Given the description of an element on the screen output the (x, y) to click on. 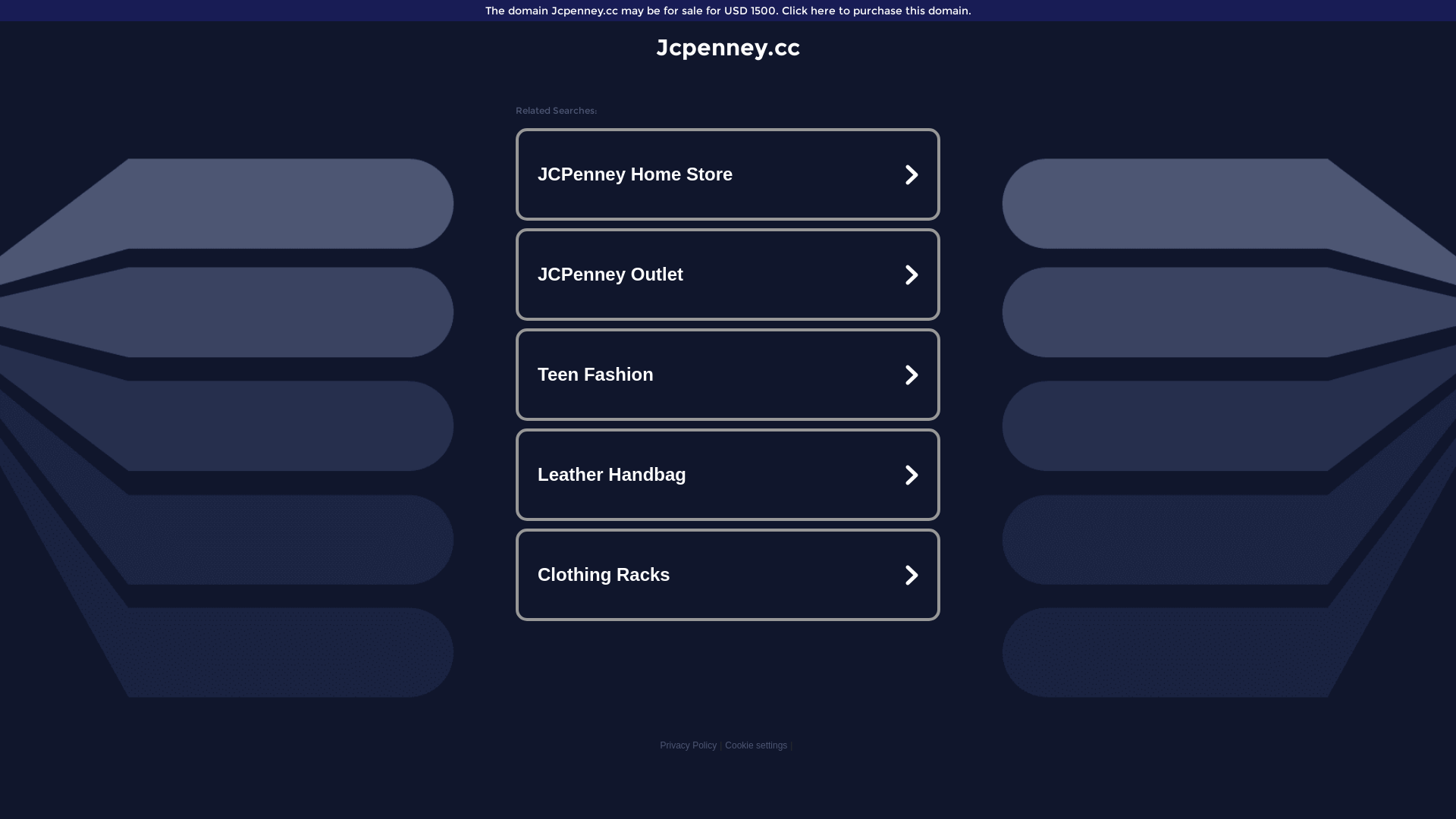
JCPenney Outlet Element type: text (727, 274)
Cookie settings Element type: text (755, 745)
Privacy Policy Element type: text (687, 745)
Jcpenney.cc Element type: text (727, 47)
Clothing Racks Element type: text (727, 574)
Leather Handbag Element type: text (727, 474)
Teen Fashion Element type: text (727, 374)
JCPenney Home Store Element type: text (727, 174)
